Given the description of an element on the screen output the (x, y) to click on. 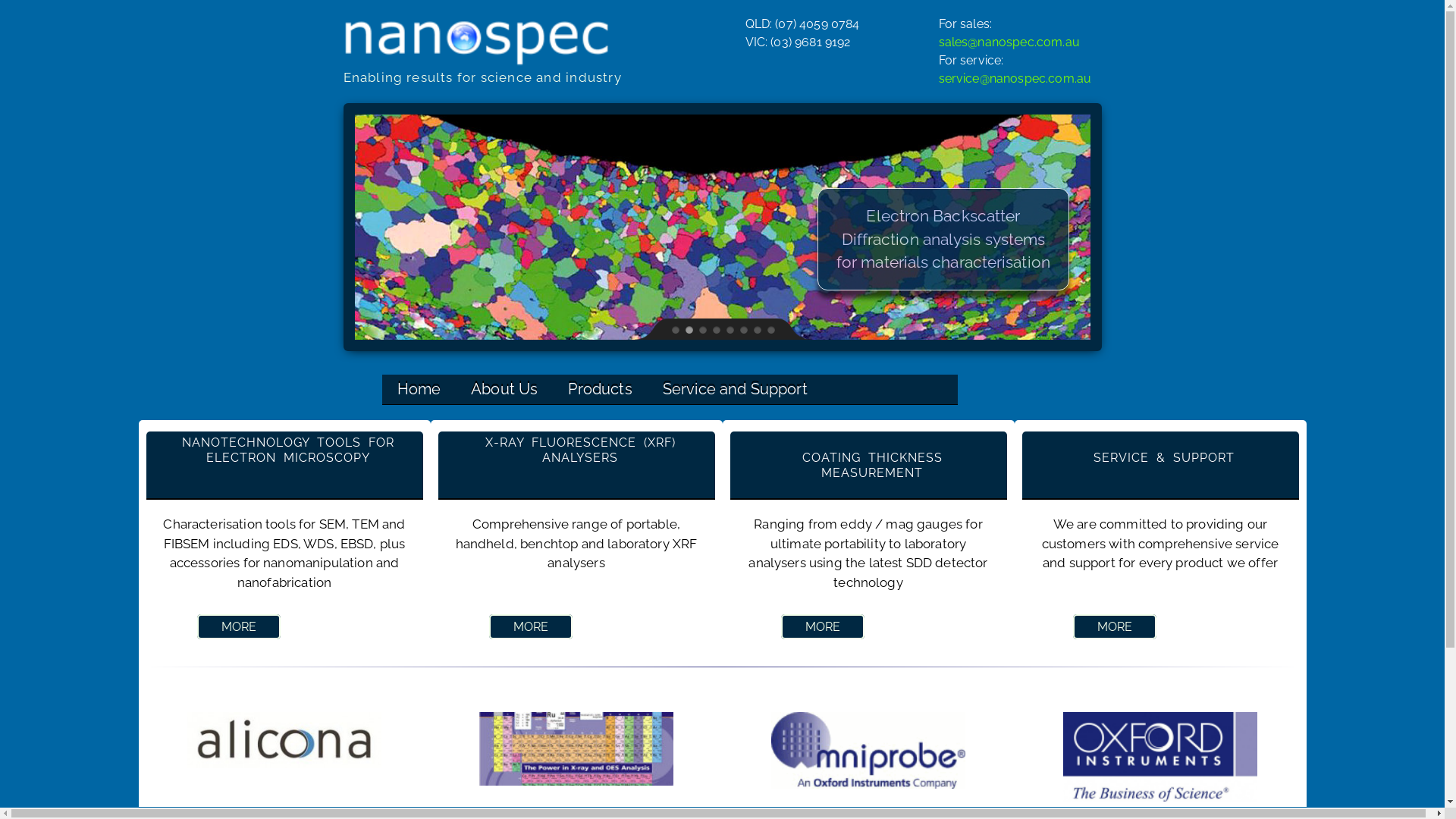
MORE Element type: text (823, 626)
service@nanospec.com.au Element type: text (1015, 78)
MORE Element type: text (530, 626)
MORE Element type: text (239, 626)
sales@nanospec.com.au Element type: text (1008, 41)
Products Element type: text (599, 389)
Service and Support Element type: text (734, 389)
MORE Element type: text (1114, 626)
About Us Element type: text (503, 389)
Home Element type: text (419, 389)
